Given the description of an element on the screen output the (x, y) to click on. 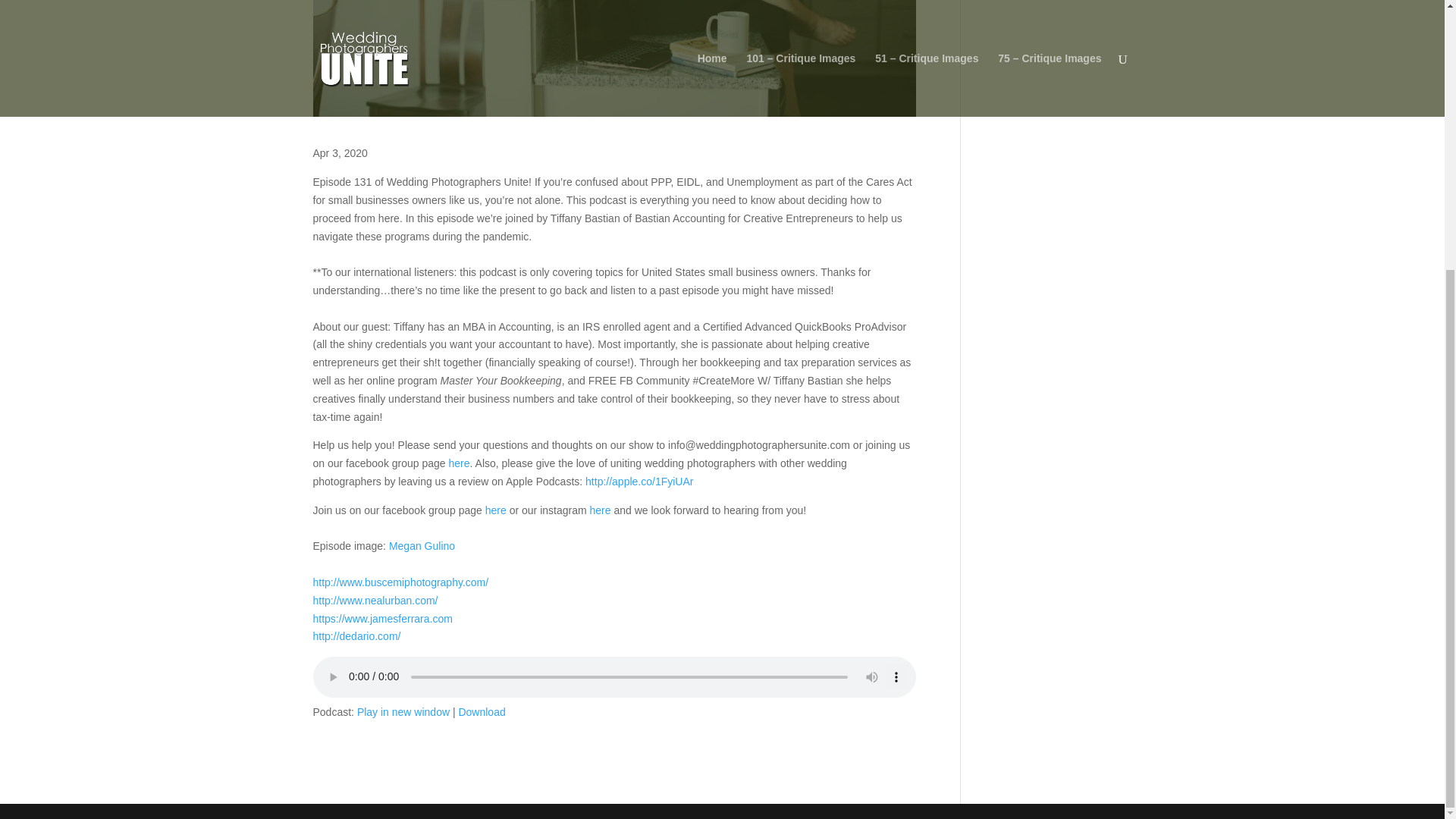
Play in new window (402, 711)
Megan Gulino (421, 545)
Download (481, 711)
here (459, 463)
Play in new window (402, 711)
here (600, 510)
Download (481, 711)
here (495, 510)
